Given the description of an element on the screen output the (x, y) to click on. 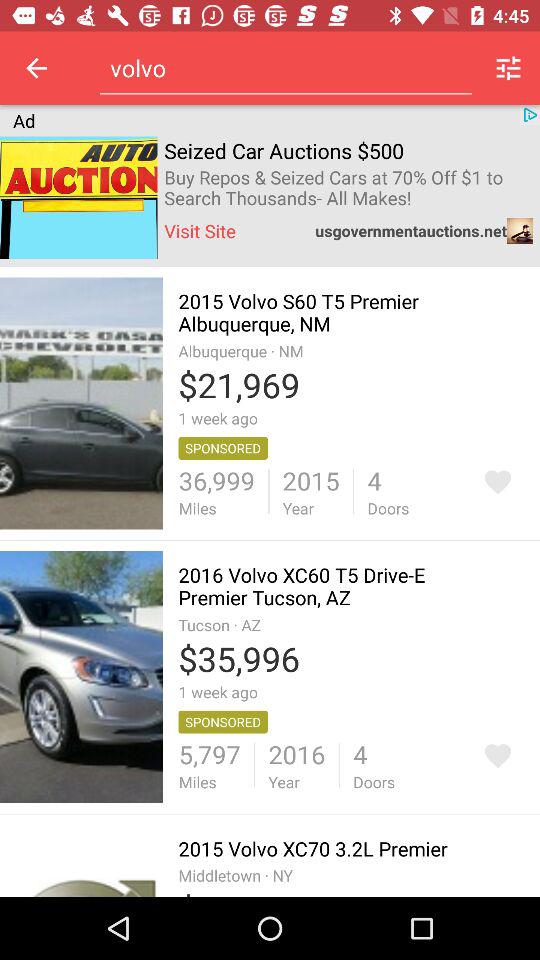
flip to the visit site (199, 230)
